Given the description of an element on the screen output the (x, y) to click on. 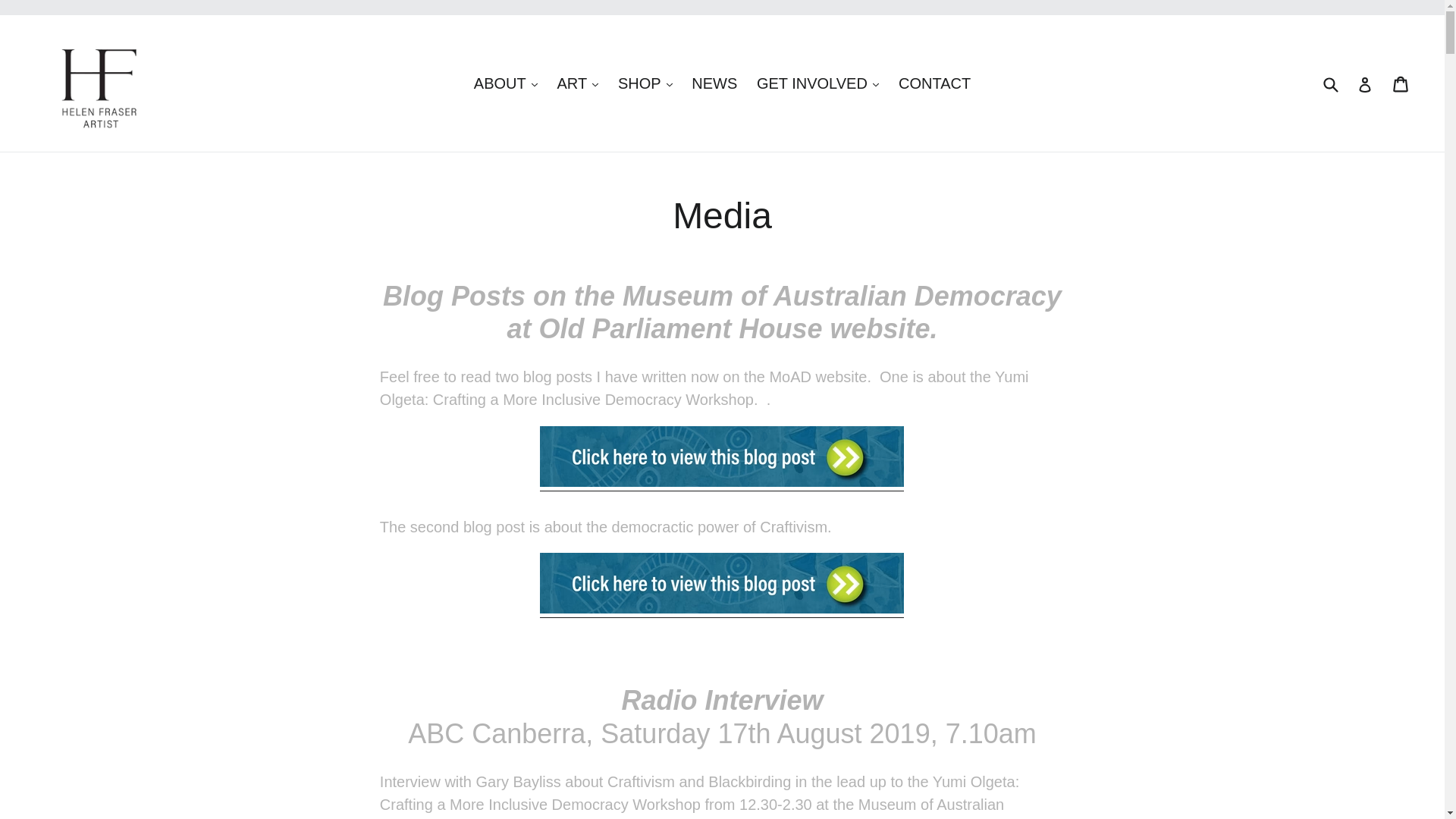
Yumi Olgeta Blog Element type: hover (721, 493)
Cart
Cart Element type: text (1401, 83)
Log in Element type: text (1364, 82)
NEWS Element type: text (714, 83)
CONTACT Element type: text (934, 83)
Submit Element type: text (1329, 82)
Democratic Power of Craftivism Blog Element type: hover (721, 608)
